Given the description of an element on the screen output the (x, y) to click on. 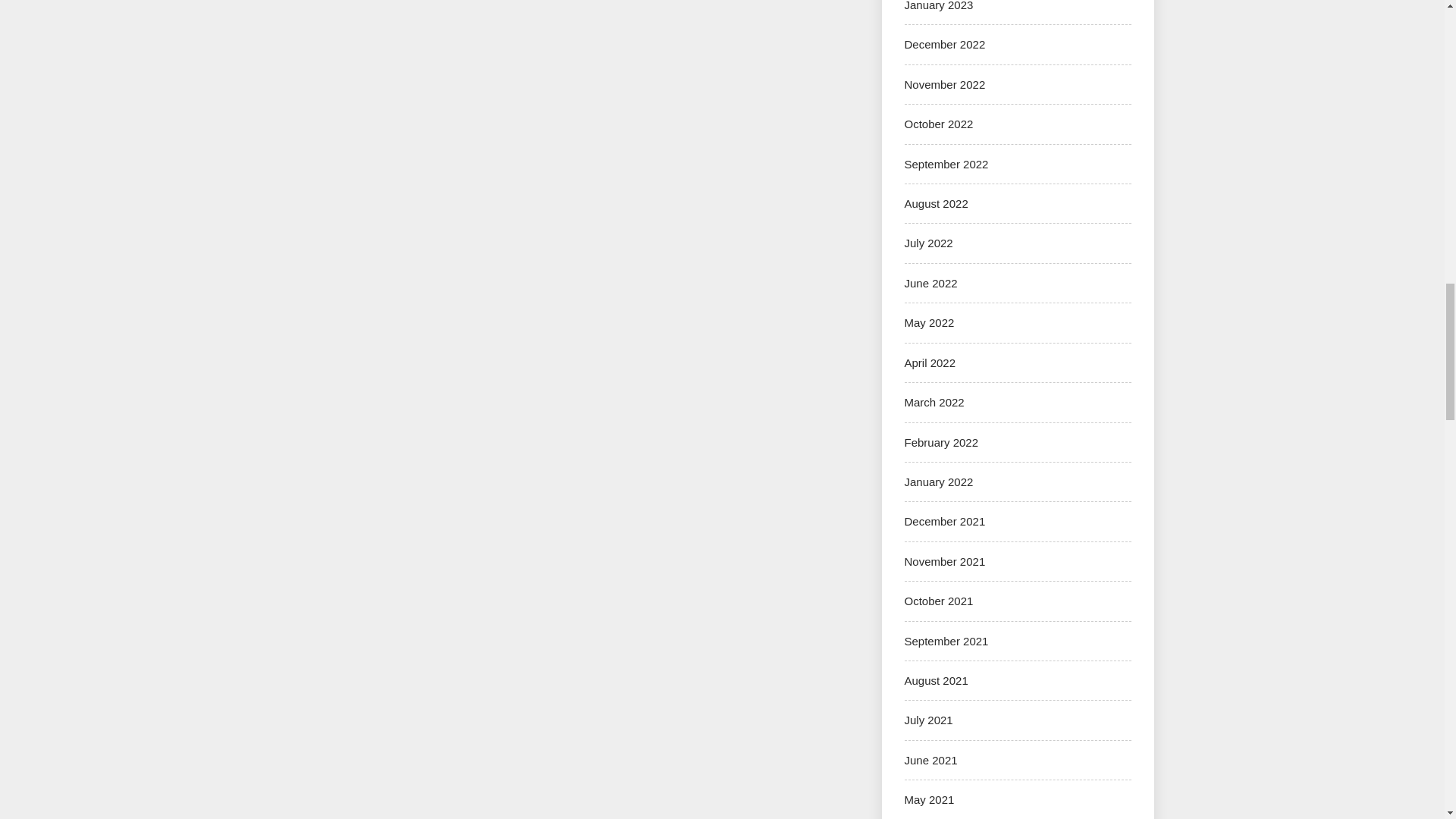
January 2023 (938, 5)
October 2022 (938, 123)
December 2022 (944, 43)
November 2022 (944, 83)
September 2022 (946, 164)
August 2022 (936, 203)
